Given the description of an element on the screen output the (x, y) to click on. 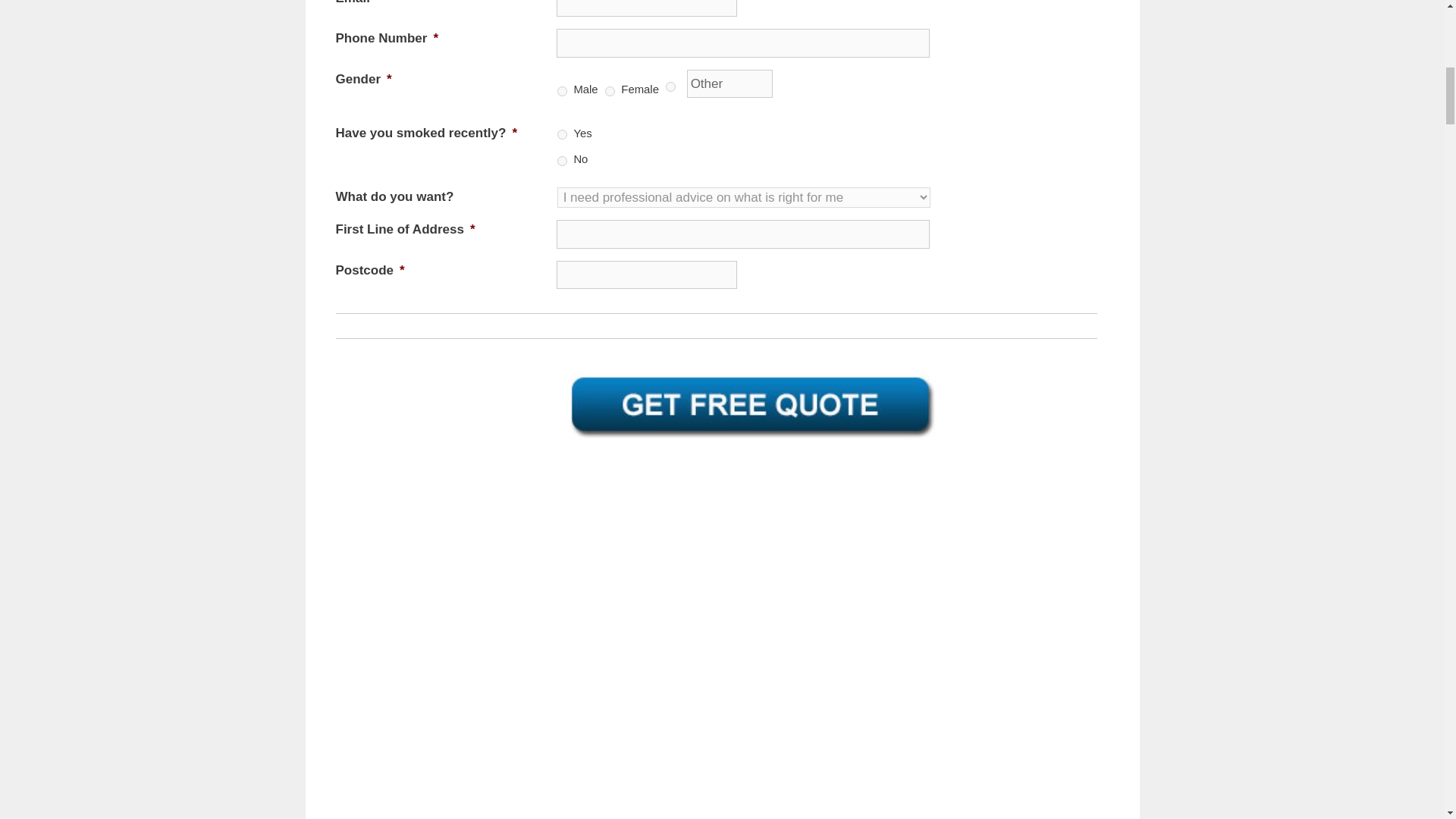
Other (730, 83)
female (609, 91)
Yes (562, 134)
male (562, 91)
No (562, 161)
